Given the description of an element on the screen output the (x, y) to click on. 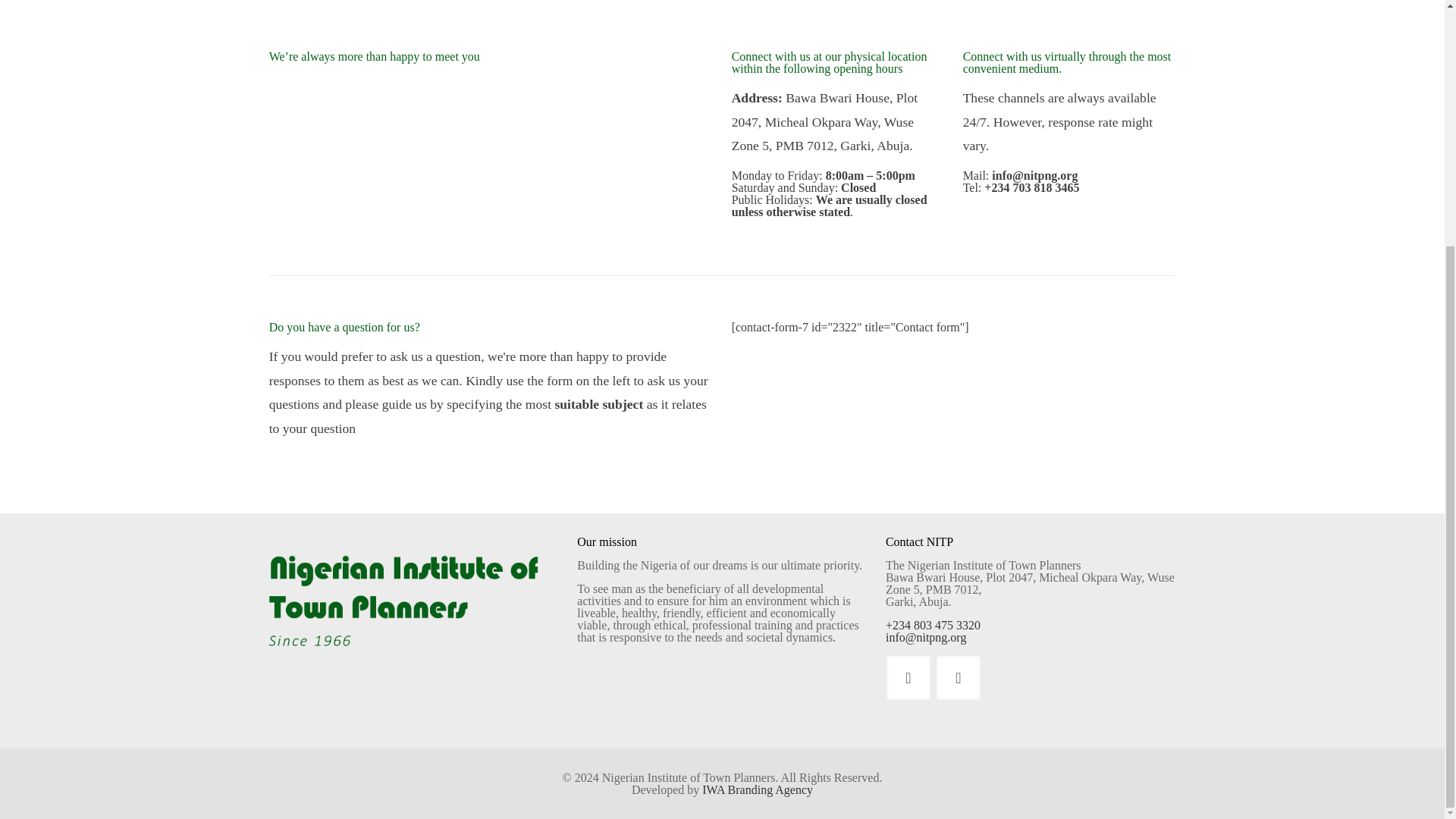
IWA Branding Agency (756, 789)
Nigerian Institute of Town Planners (414, 628)
